Given the description of an element on the screen output the (x, y) to click on. 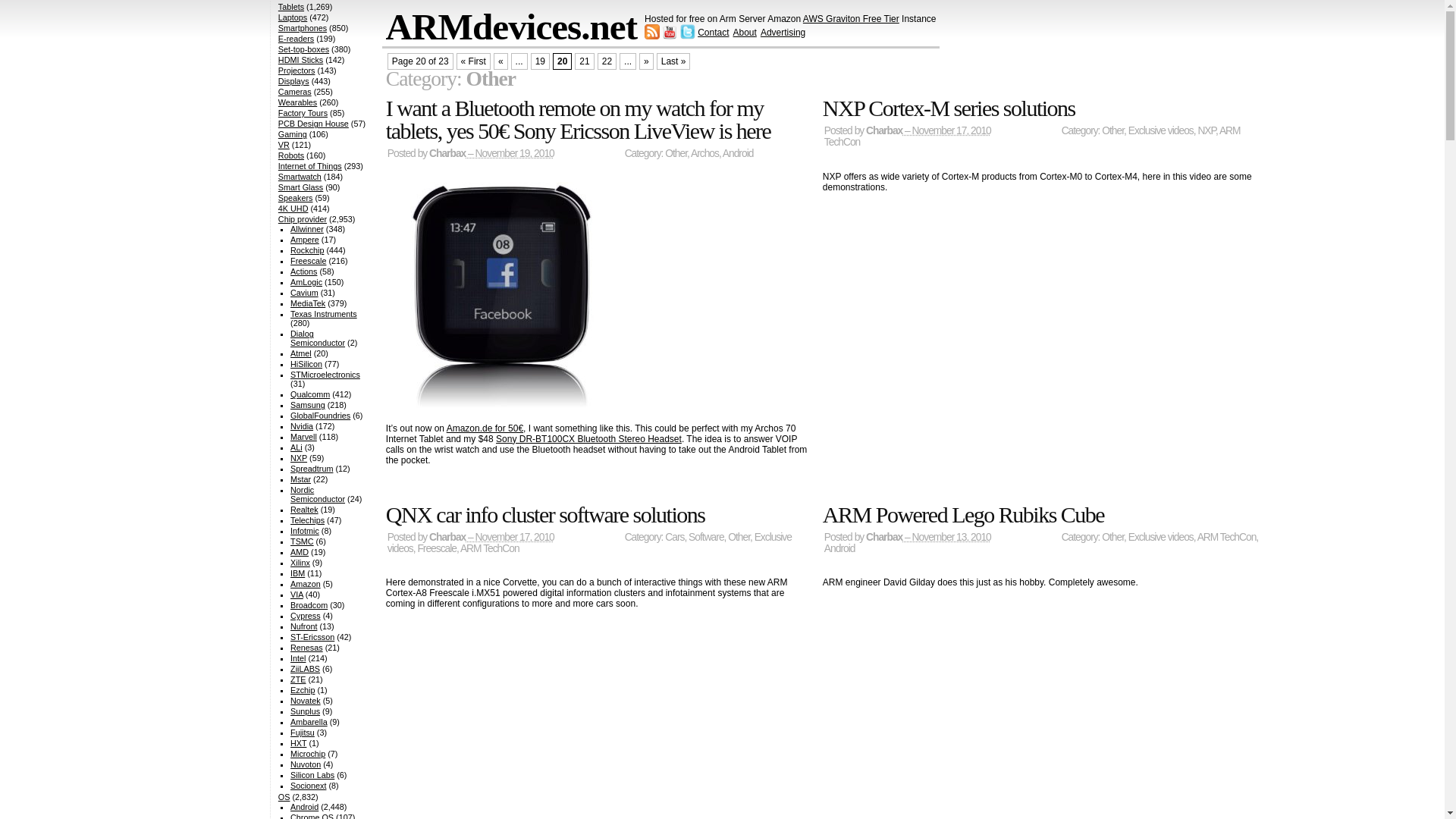
Page 19 (540, 61)
19 (540, 61)
Android (738, 153)
Subscribe on YouTube (669, 36)
More posts by Charbax (447, 536)
RSS feed (652, 36)
More posts by Charbax (884, 130)
NXP Cortex-M series solutions (948, 107)
Charbax (447, 153)
AWS Graviton Free Tier (851, 18)
Sony DR-BT100CX Bluetooth Stereo Headset (588, 439)
Other (676, 153)
Page 21 (584, 61)
ARMdevices.net (511, 26)
21 (584, 61)
